Given the description of an element on the screen output the (x, y) to click on. 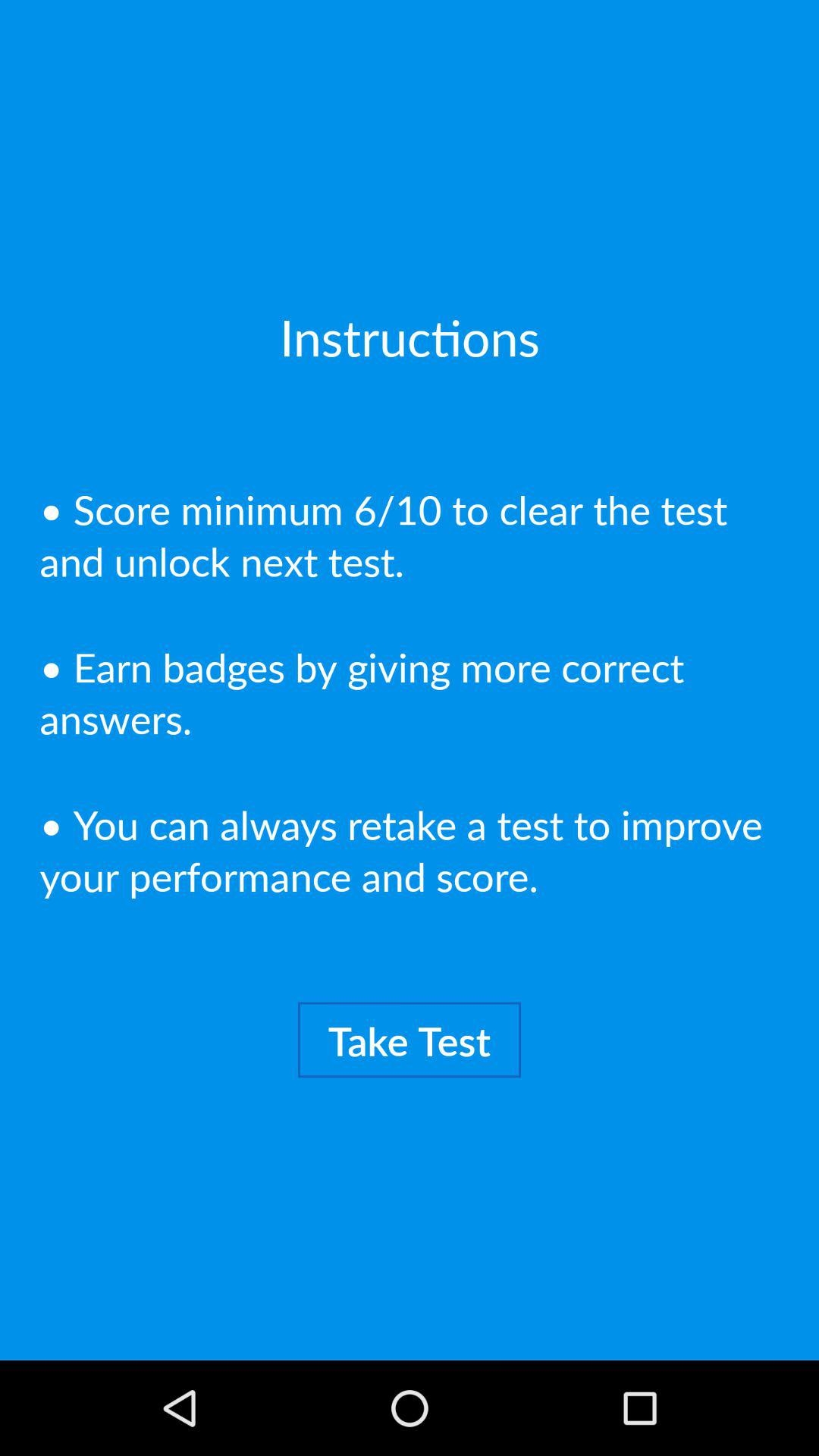
choose take test (409, 1039)
